Given the description of an element on the screen output the (x, y) to click on. 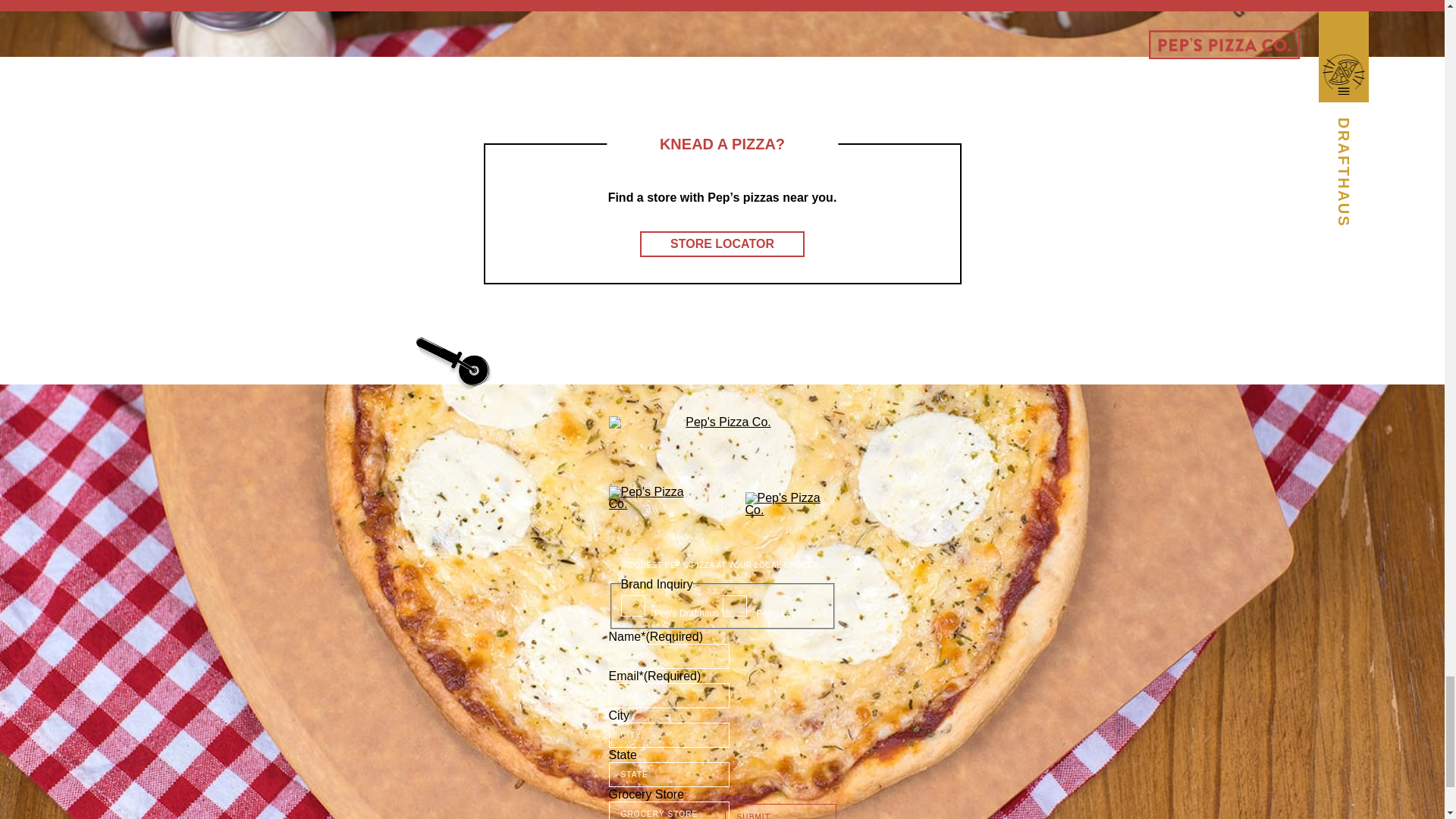
Pep's Pizza Co. (721, 437)
Pep's Pizza Co. (789, 509)
Pep's Pizza Co. (653, 509)
Submit (780, 811)
